Given the description of an element on the screen output the (x, y) to click on. 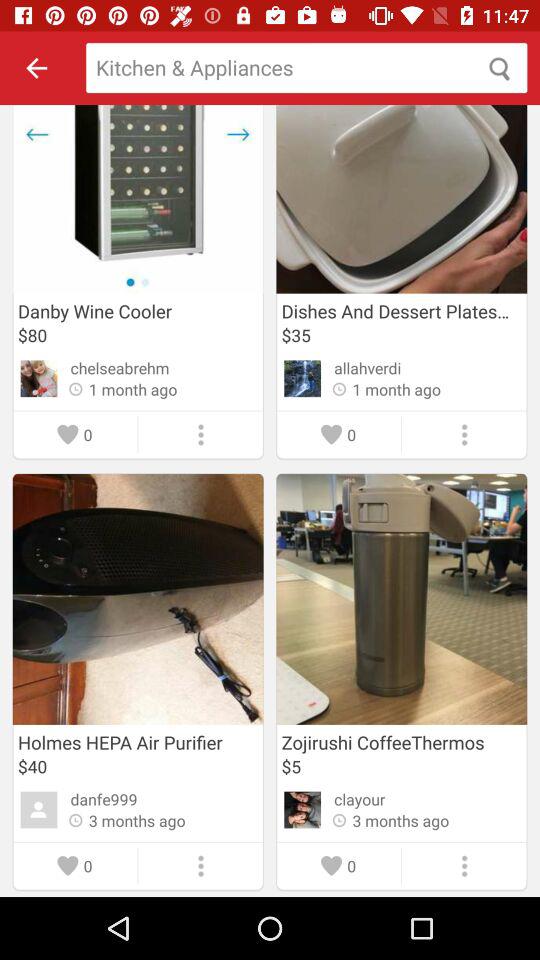
choose icon above 3 months ago item (359, 799)
